Given the description of an element on the screen output the (x, y) to click on. 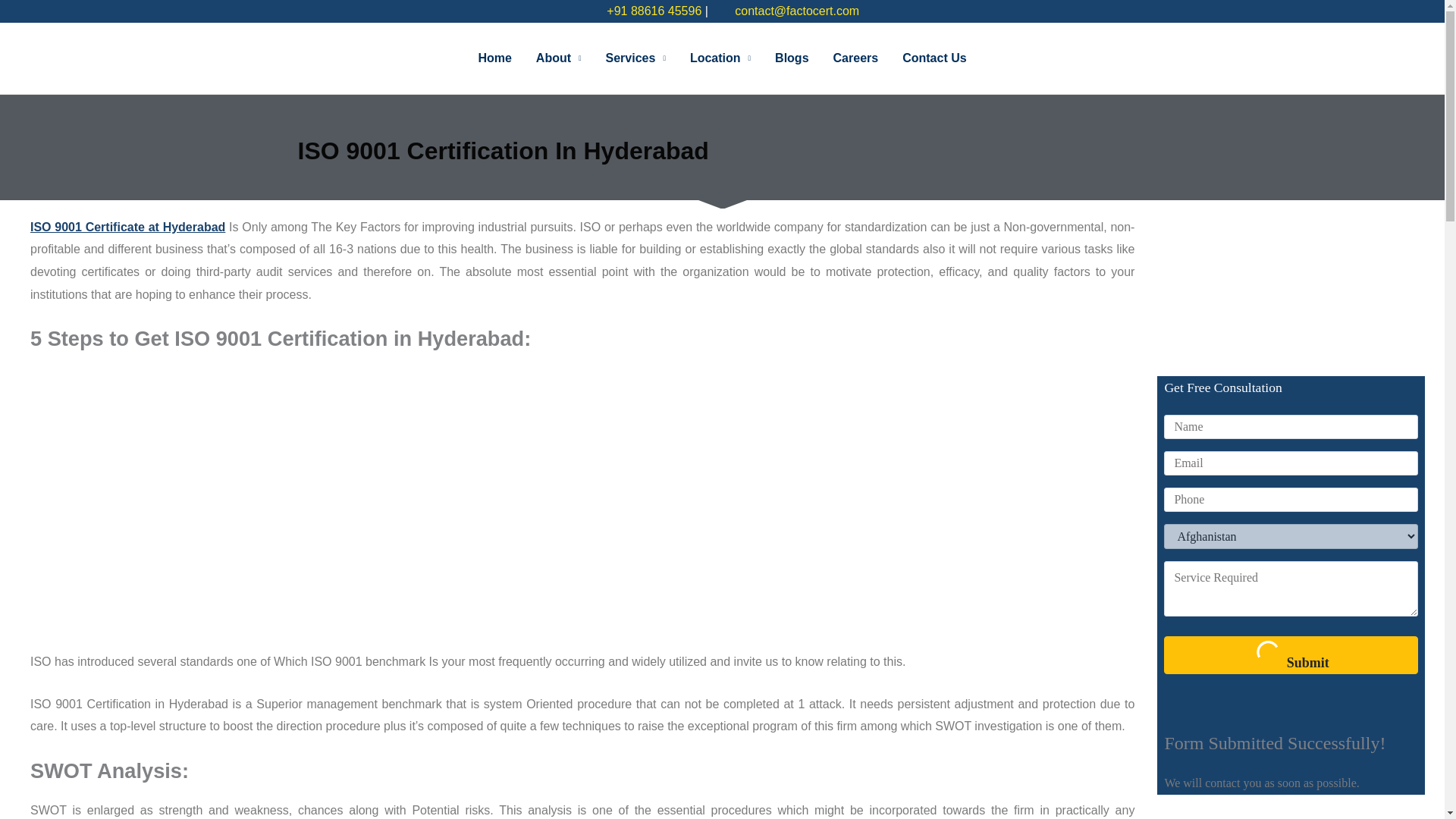
Home (493, 57)
Services (636, 57)
About (559, 57)
